Given the description of an element on the screen output the (x, y) to click on. 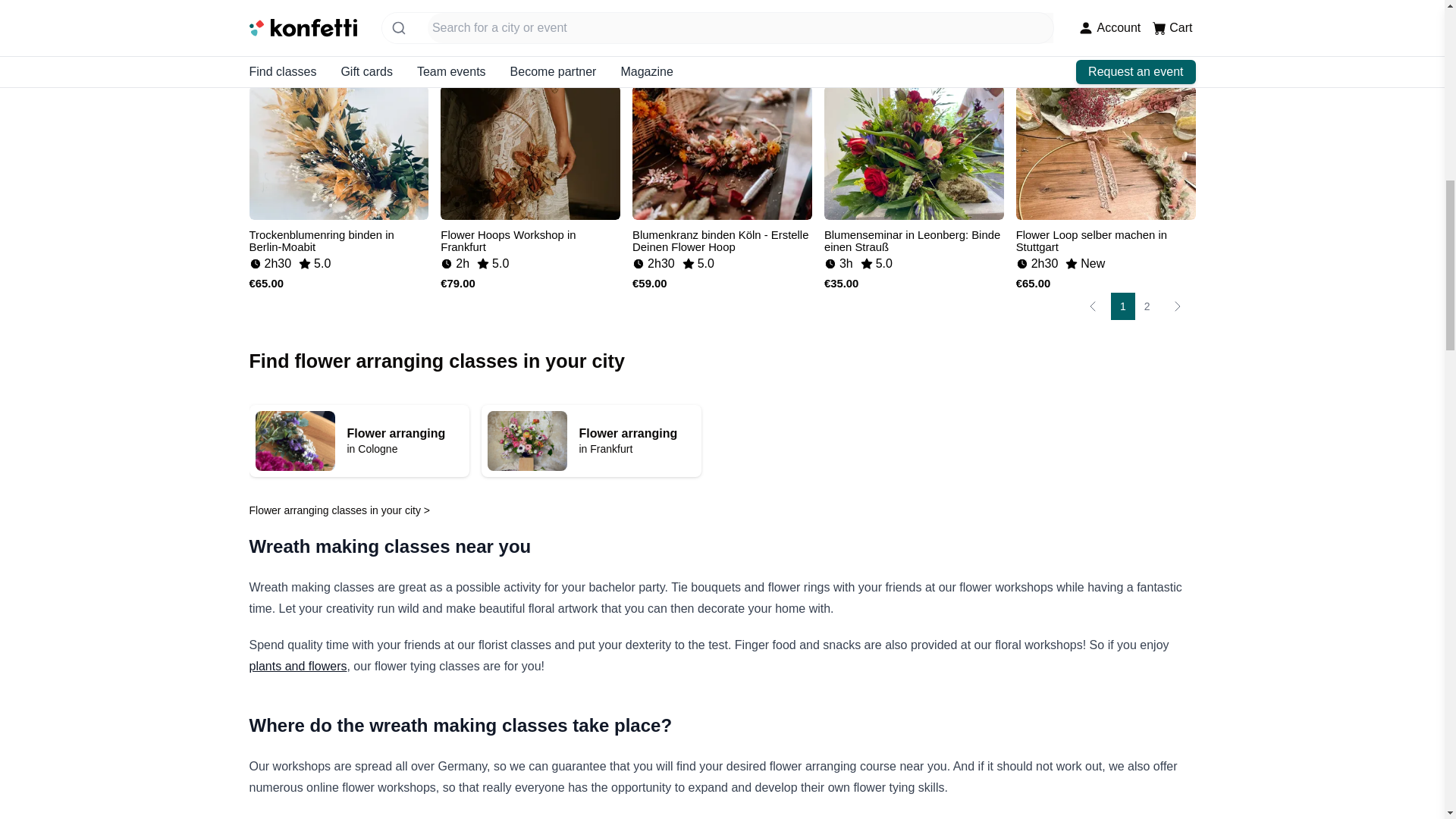
Flower Loop selber machen in Stuttgart (1105, 236)
plants and flowers (297, 666)
Trockenblumenring binden in Berlin-Moabit (358, 440)
Blumenkranz binden in Trier: Kreiere Deinen Kranz (338, 236)
Flower Hoops Workshop in Frankfurt (1105, 17)
Blumenkranz binden in Innsbruck: Kreiere Deinen Kranz (530, 236)
Floral Hoop herstellen in Hamburg (914, 17)
